Given the description of an element on the screen output the (x, y) to click on. 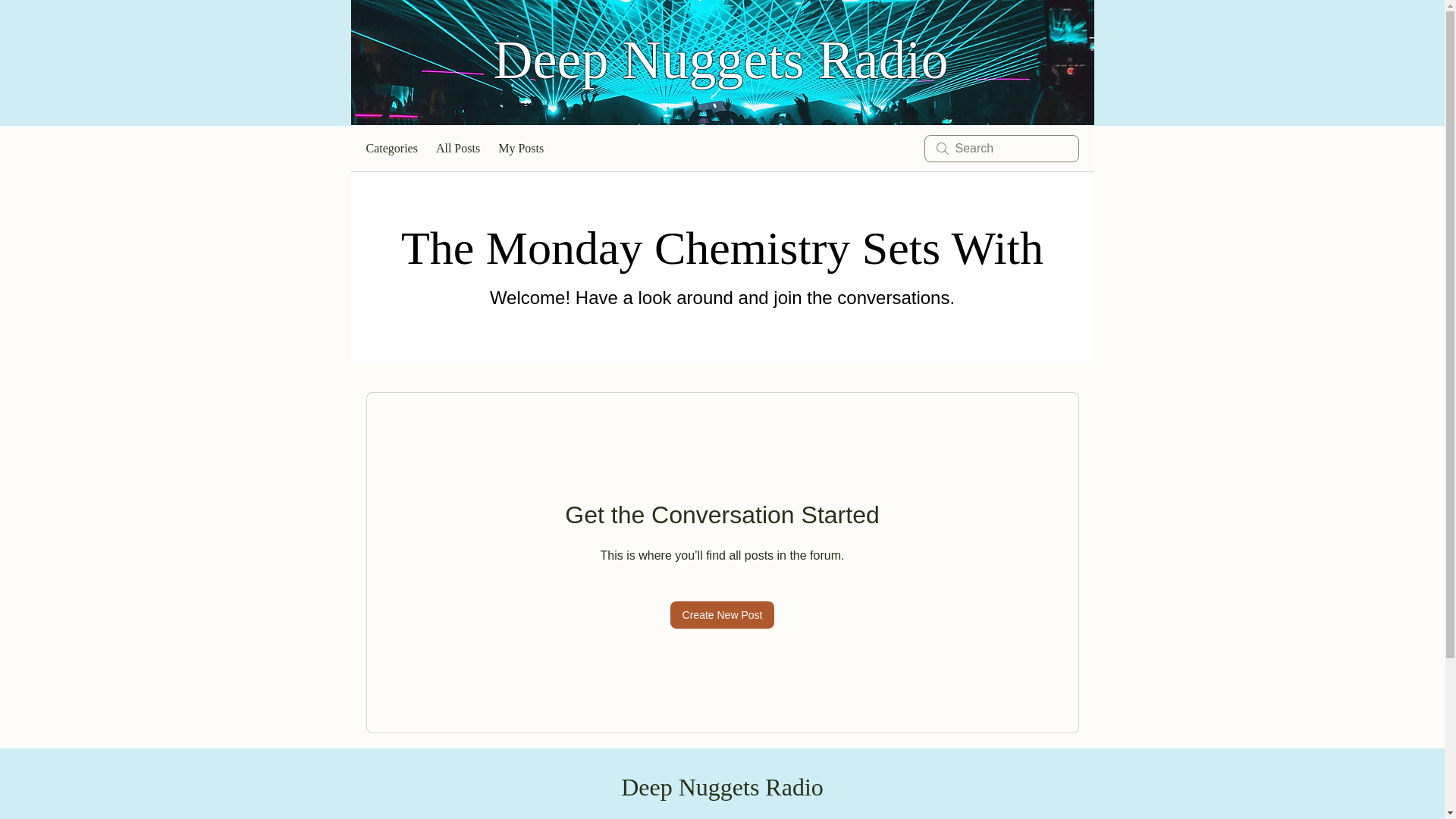
Categories (390, 148)
My Posts (520, 148)
All Posts (457, 148)
Create New Post (721, 614)
